Given the description of an element on the screen output the (x, y) to click on. 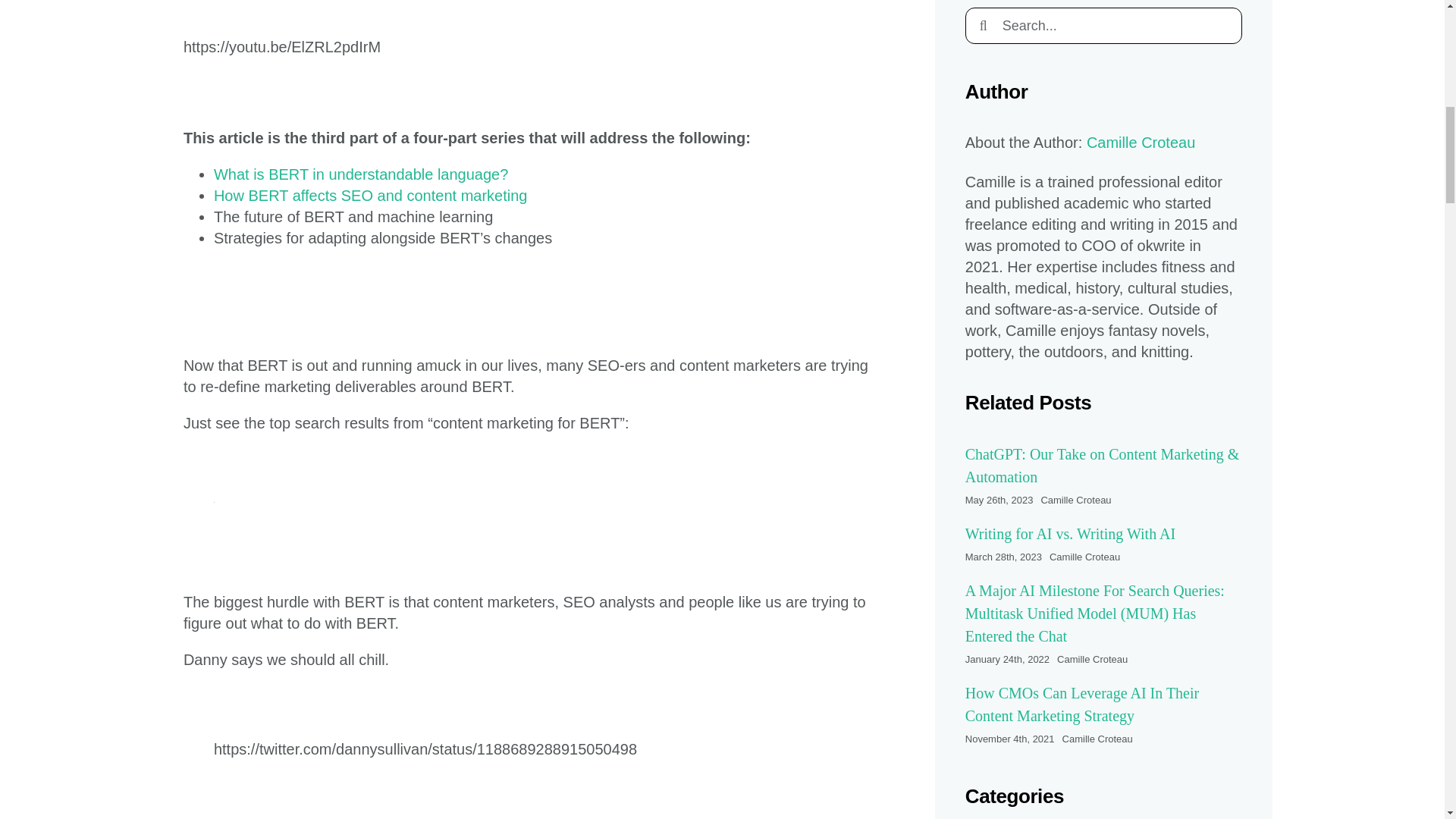
Posts by Camille Croteau (1091, 659)
Posts by Camille Croteau (1075, 500)
Posts by Camille Croteau (1097, 738)
Posts by Camille Croteau (1084, 556)
How BERT affects SEO and content marketing (370, 195)
What is BERT in understandable language? (361, 174)
